Given the description of an element on the screen output the (x, y) to click on. 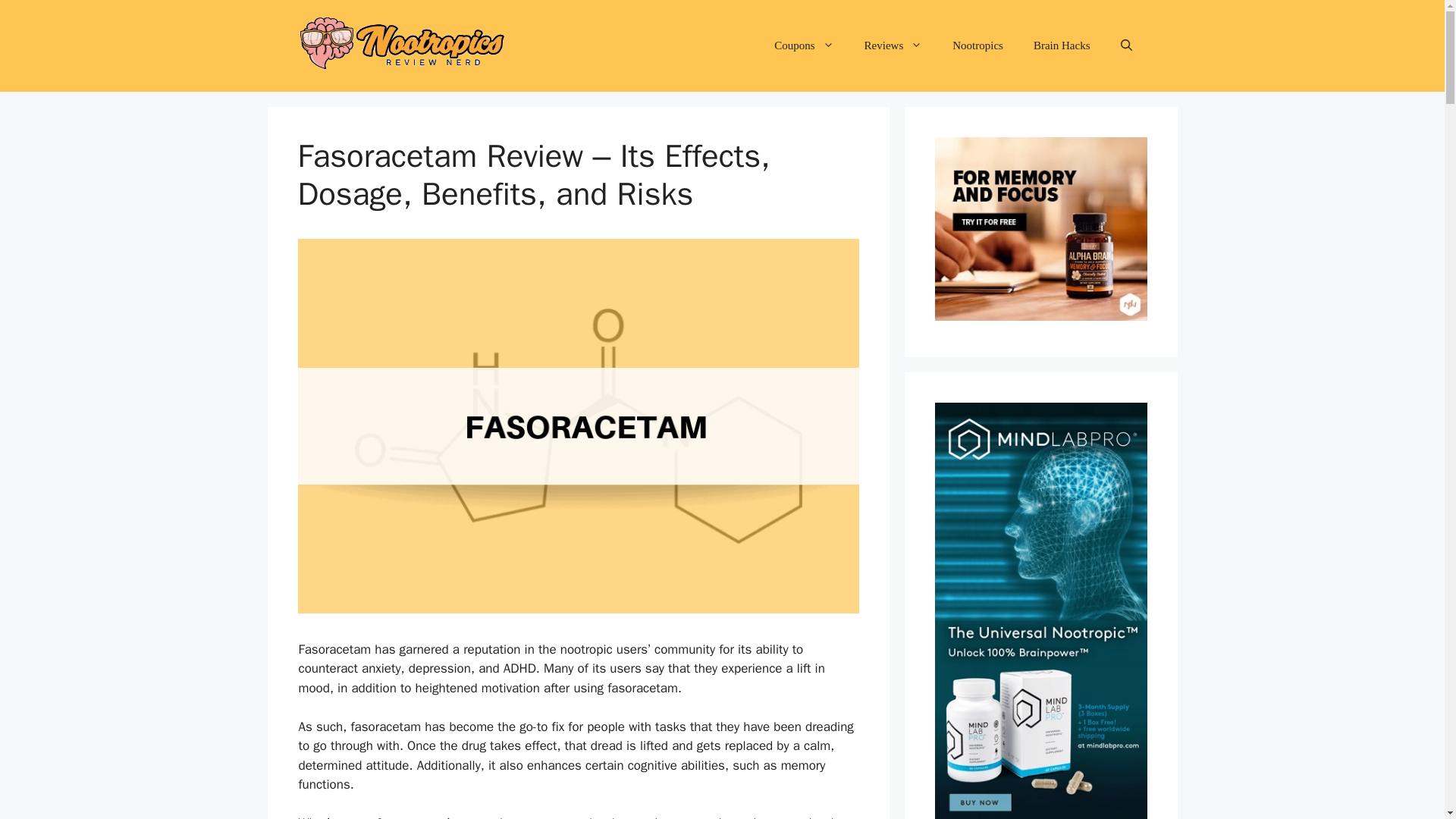
Reviews (892, 44)
Coupons (803, 44)
Brain Hacks (1061, 44)
Nootropics (977, 44)
